Given the description of an element on the screen output the (x, y) to click on. 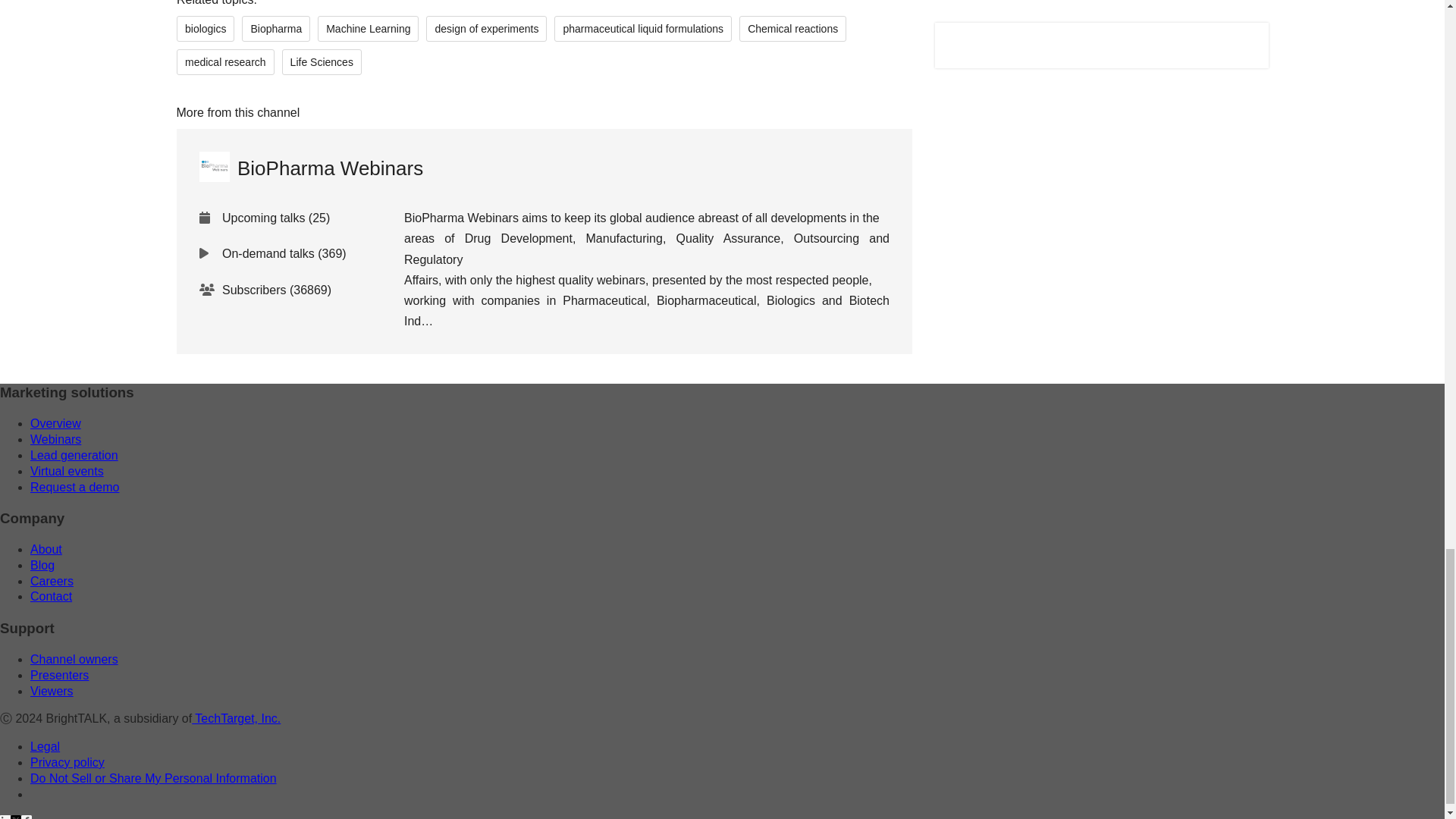
medical research (224, 62)
design of experiments (486, 28)
Machine Learning (368, 28)
Biopharma (275, 28)
Chemical reactions (792, 28)
Visit BioPharma Webinars's channel (310, 168)
BioPharma Webinars (310, 168)
biologics (204, 28)
Life Sciences (321, 62)
pharmaceutical liquid formulations (643, 28)
